Given the description of an element on the screen output the (x, y) to click on. 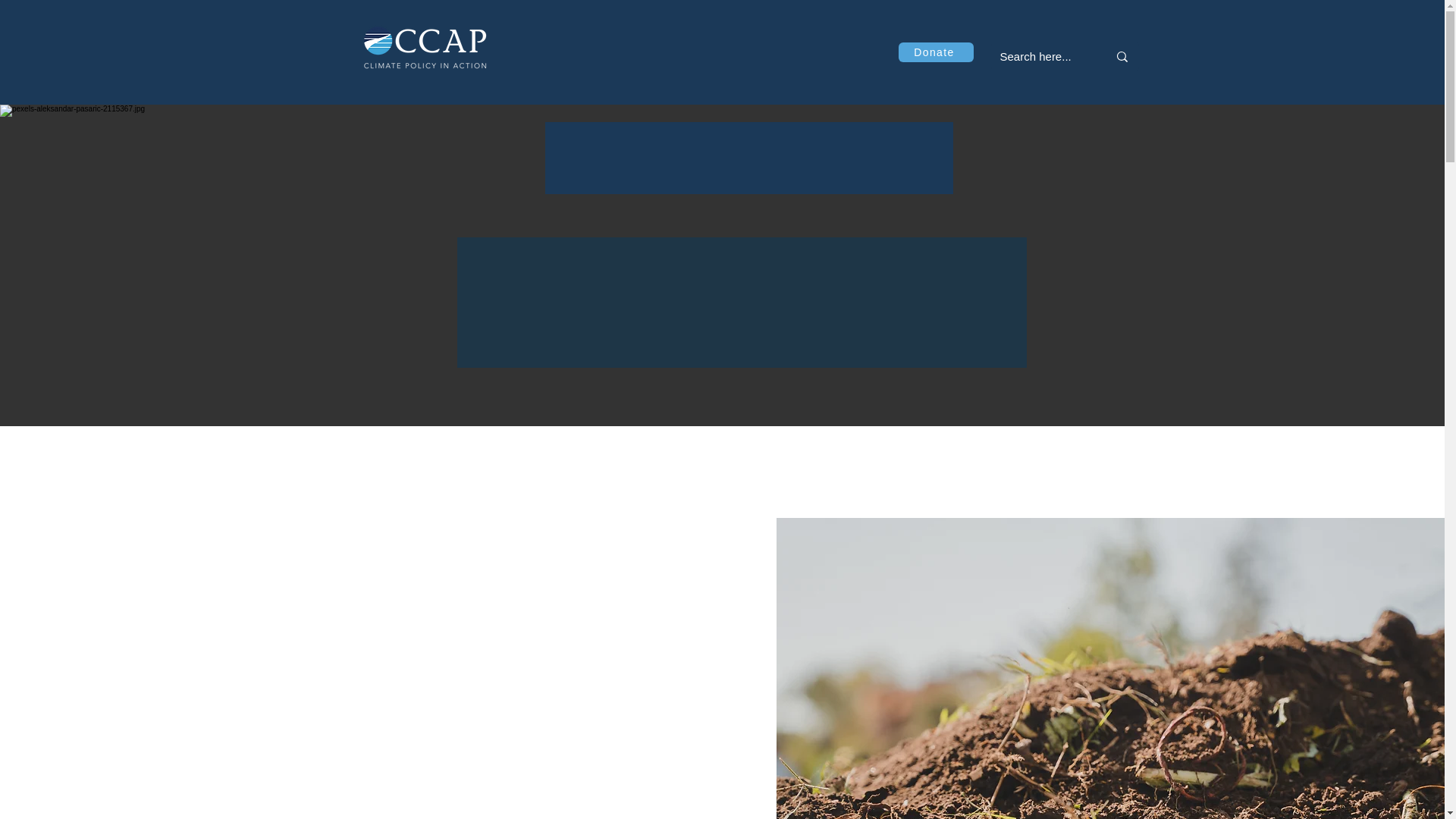
Donate (935, 52)
